Given the description of an element on the screen output the (x, y) to click on. 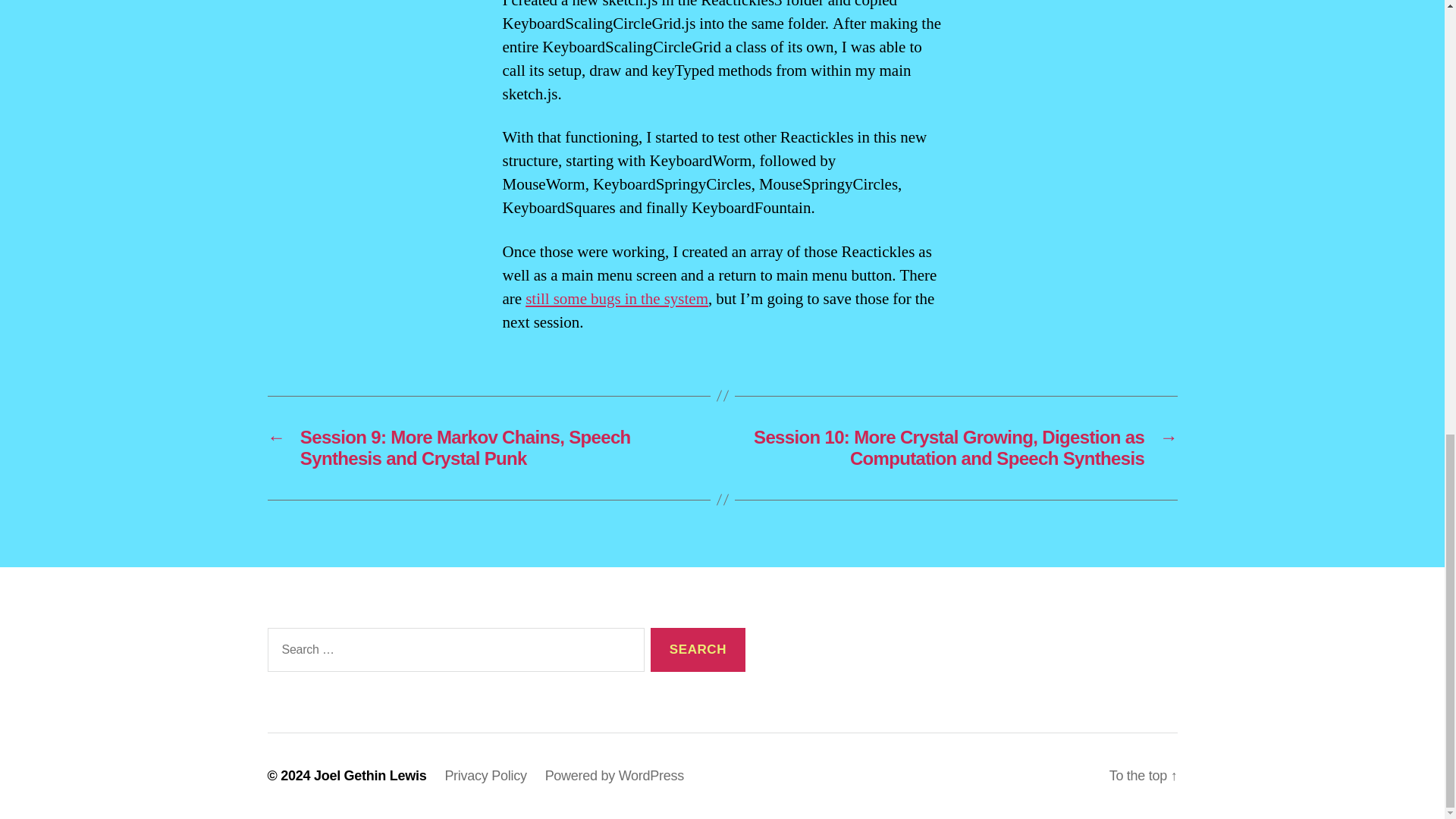
Search (697, 650)
Privacy Policy (484, 775)
still some bugs in the system (616, 299)
Search (697, 650)
Powered by WordPress (614, 775)
Joel Gethin Lewis (370, 775)
Search (697, 650)
